Given the description of an element on the screen output the (x, y) to click on. 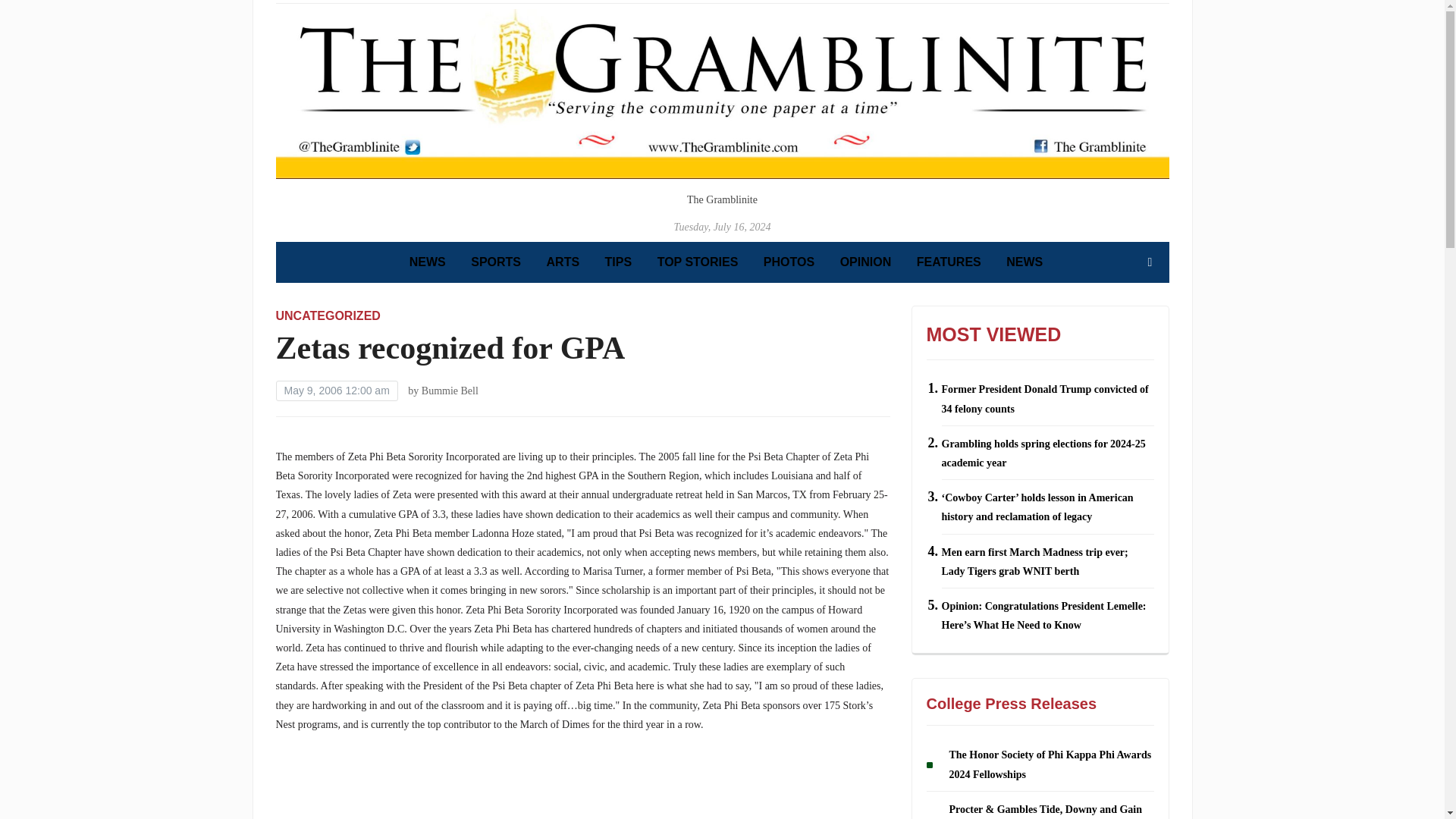
FEATURES (949, 262)
The Honor Society of Phi Kappa Phi Awards 2024 Fellowships (1050, 764)
Former President Donald Trump convicted of 34 felony counts (1045, 399)
OPINION (865, 262)
TOP STORIES (698, 262)
ARTS (563, 262)
TIPS (618, 262)
PHOTOS (787, 262)
NEWS (427, 262)
SPORTS (495, 262)
The Honor Society of Phi Kappa Phi Awards 2024 Fellowships (1050, 764)
Search (1149, 262)
